Given the description of an element on the screen output the (x, y) to click on. 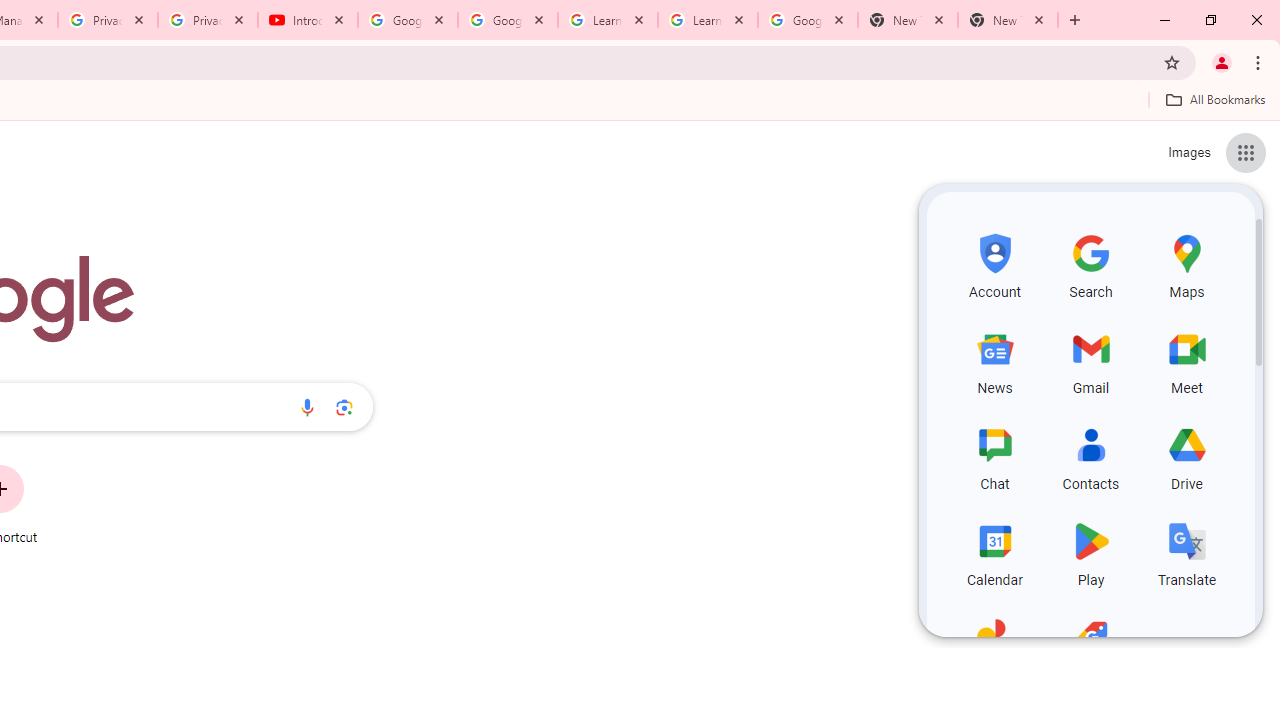
Photos, row 5 of 5 and column 1 of 3 in the first section (994, 647)
Account, row 1 of 5 and column 1 of 3 in the first section (994, 263)
Gmail, row 2 of 5 and column 2 of 3 in the first section (1090, 359)
Google Account (807, 20)
Translate, row 4 of 5 and column 3 of 3 in the first section (1186, 551)
Shopping, row 5 of 5 and column 2 of 3 in the first section (1090, 647)
Drive, row 3 of 5 and column 3 of 3 in the first section (1186, 455)
Search by voice (307, 407)
Play, row 4 of 5 and column 2 of 3 in the first section (1090, 551)
Google Account Help (408, 20)
